Given the description of an element on the screen output the (x, y) to click on. 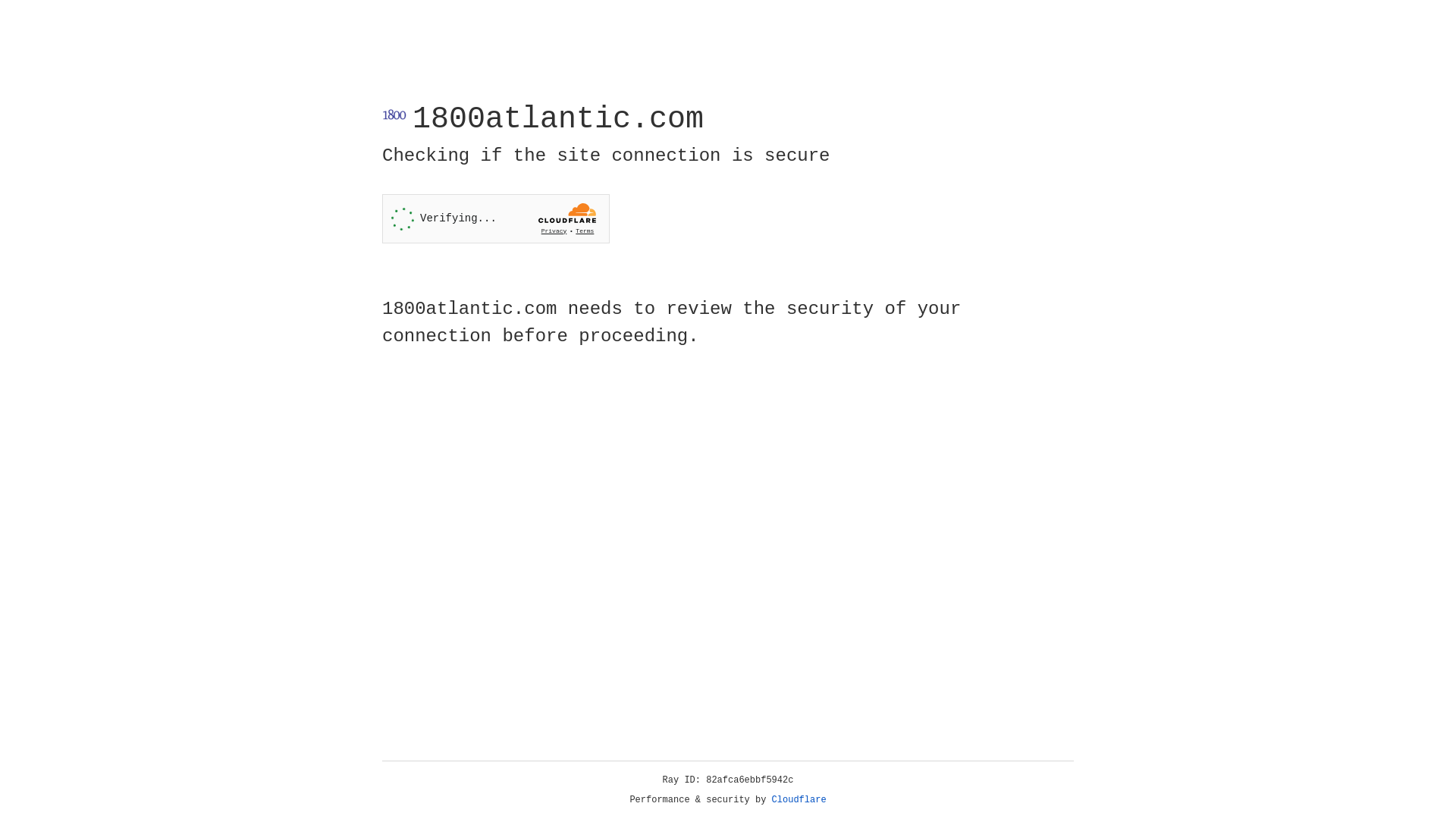
Widget containing a Cloudflare security challenge Element type: hover (495, 218)
Cloudflare Element type: text (798, 799)
